Given the description of an element on the screen output the (x, y) to click on. 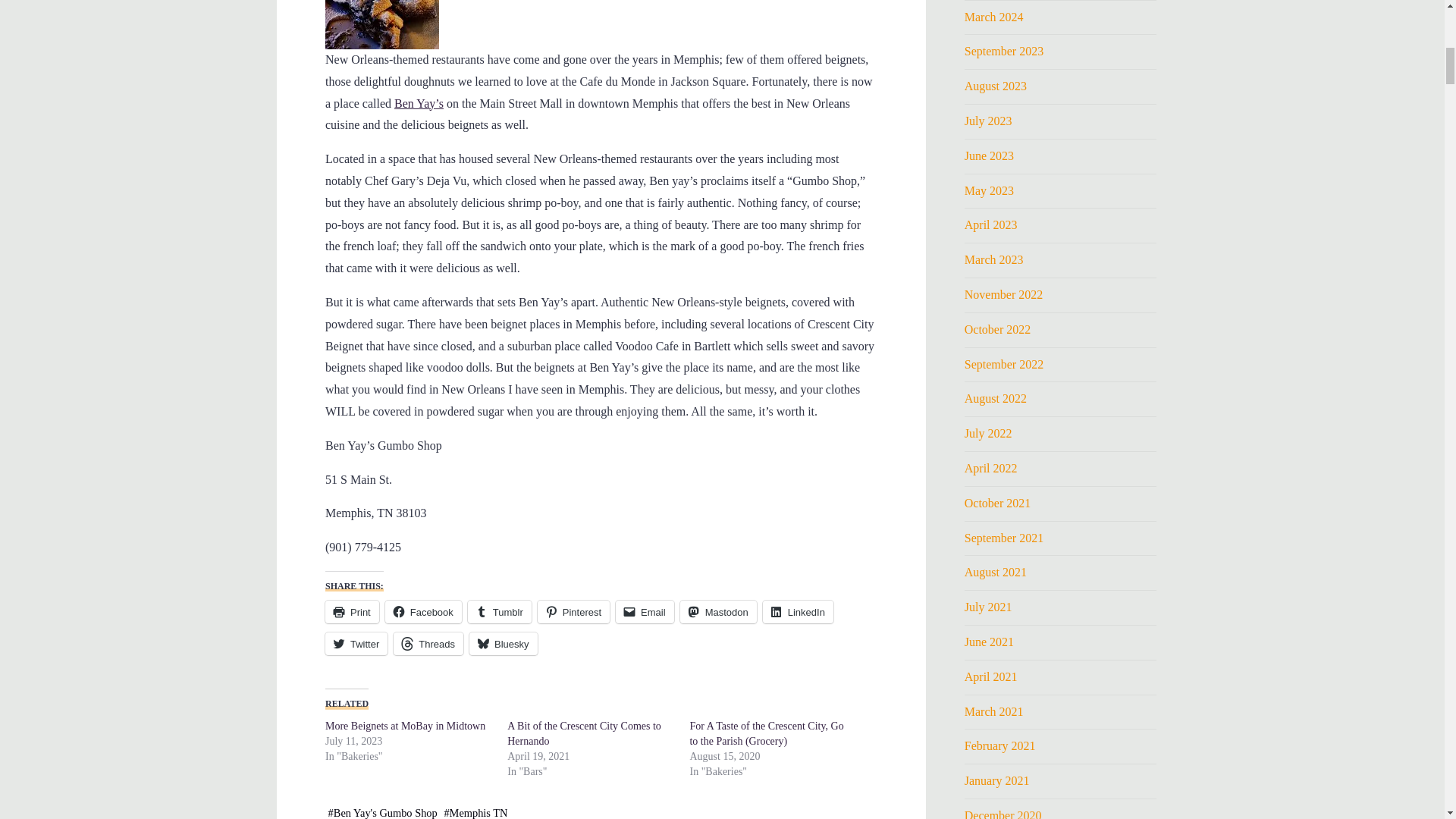
Click to share on Facebook (422, 611)
Print (351, 611)
Click to print (351, 611)
Facebook (422, 611)
Mastodon (717, 611)
Tumblr (499, 611)
Click to share on Tumblr (499, 611)
LinkedIn (796, 611)
Click to share on Pinterest (572, 611)
Pinterest (572, 611)
Email (644, 611)
Click to email a link to a friend (644, 611)
Twitter (355, 643)
